Given the description of an element on the screen output the (x, y) to click on. 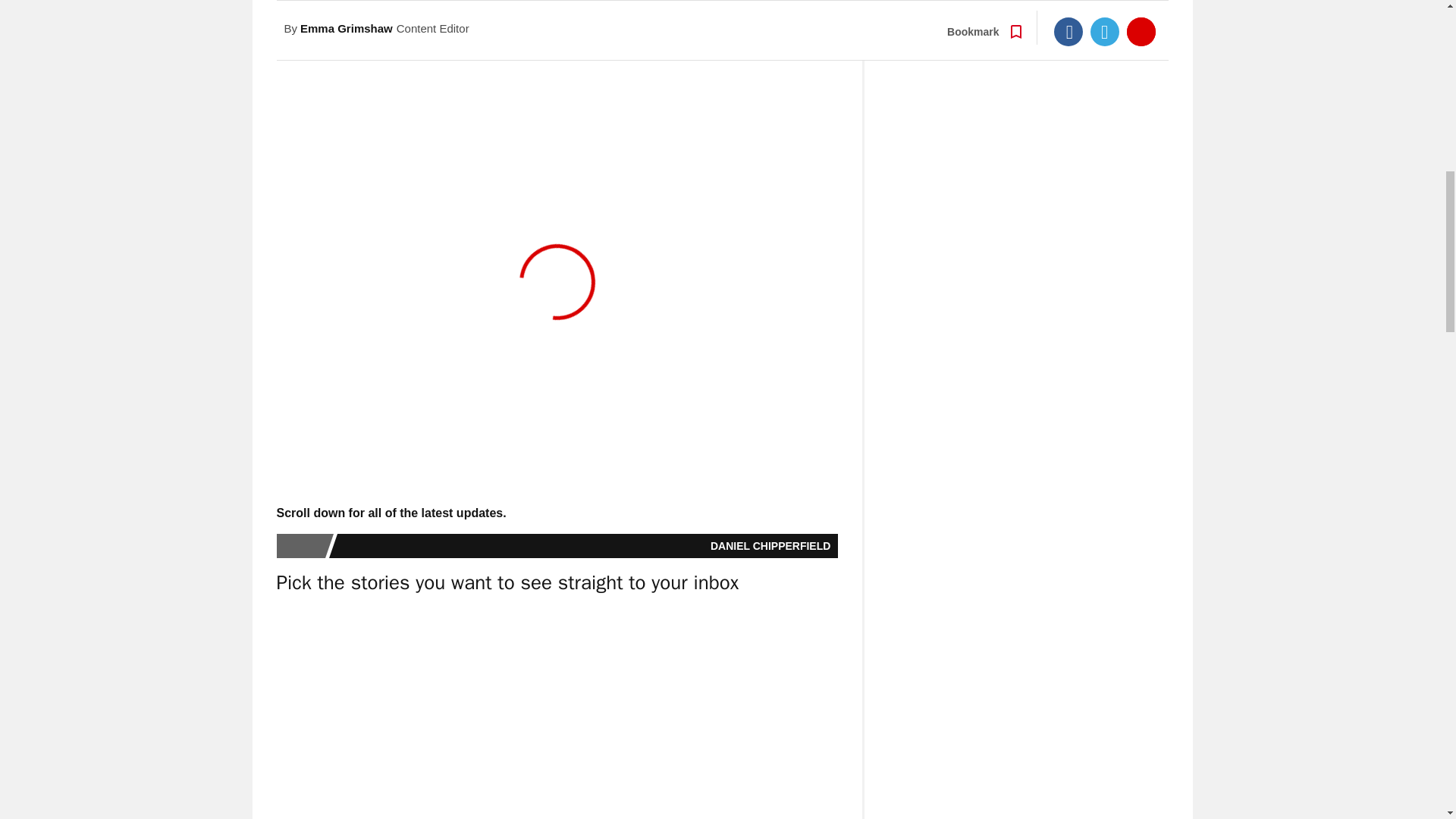
Gloucestershire news straight to your inbox (557, 713)
